Given the description of an element on the screen output the (x, y) to click on. 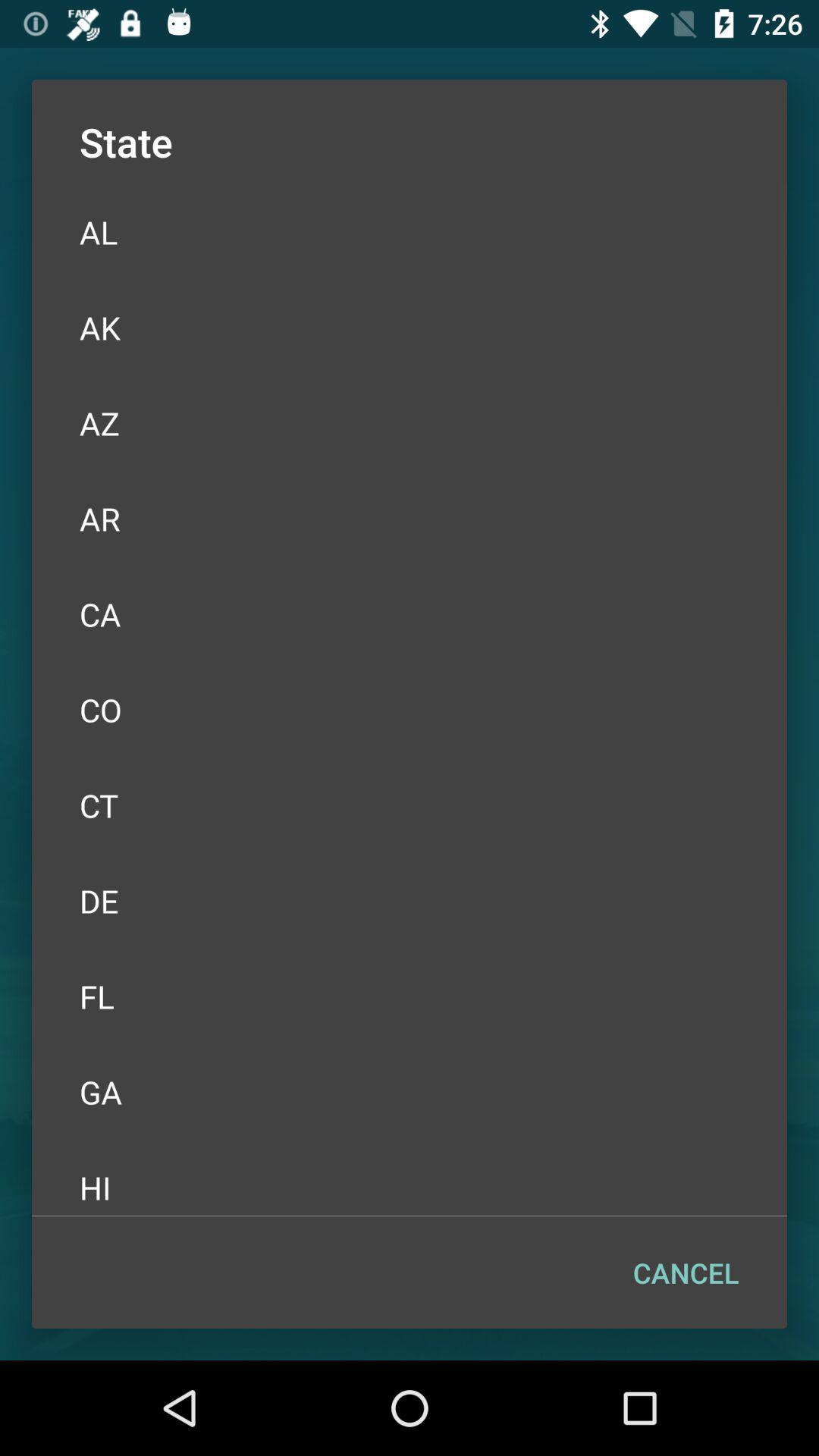
choose the icon above the fl icon (409, 900)
